Given the description of an element on the screen output the (x, y) to click on. 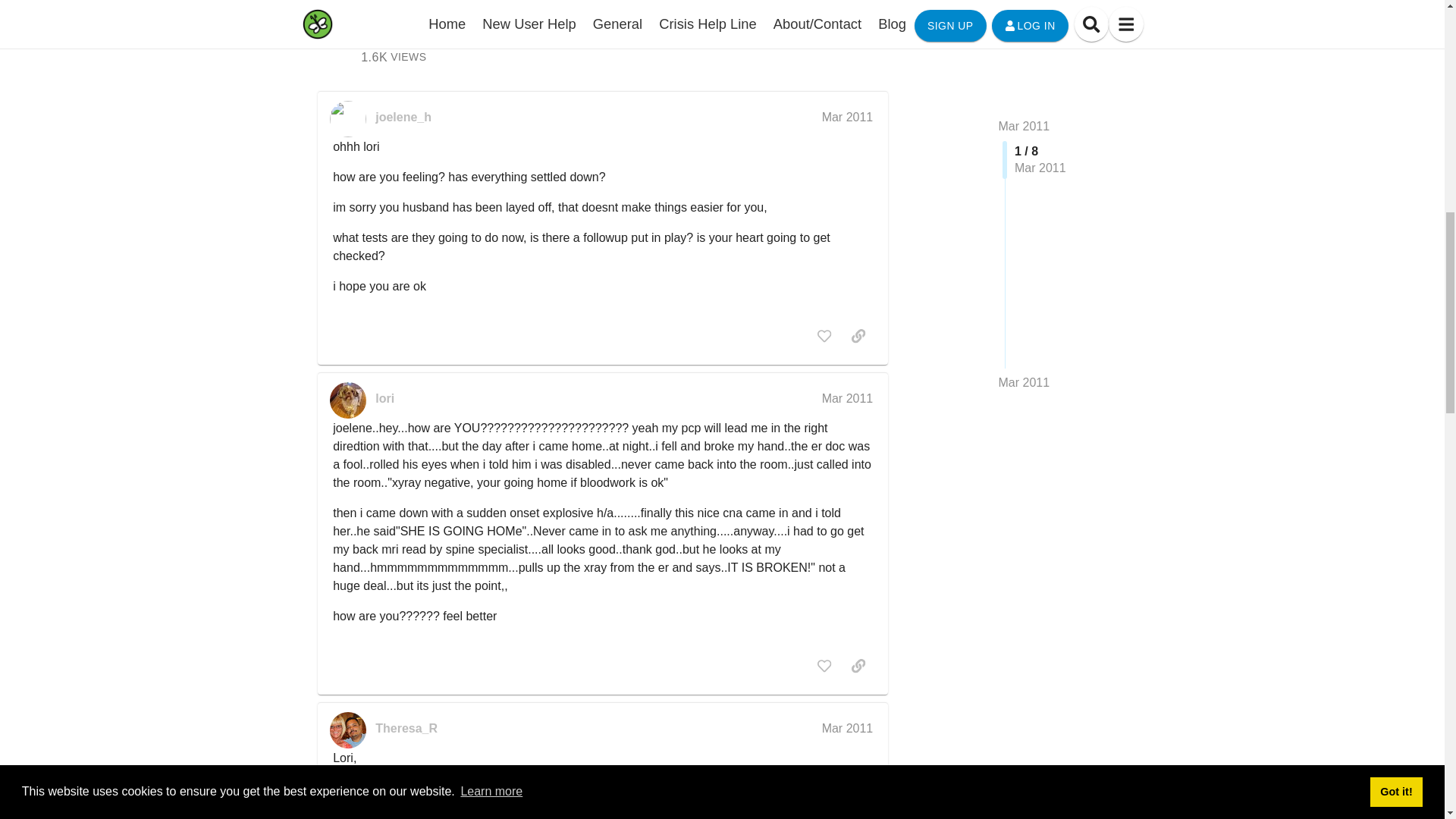
Mar 2011 (847, 116)
Post date (847, 116)
Post date (847, 398)
like this post (392, 57)
lori (823, 335)
copy a link to this post to clipboard (384, 398)
like this post (899, 7)
copy a link to this post to clipboard (865, 7)
Mar 2011 (858, 335)
